Given the description of an element on the screen output the (x, y) to click on. 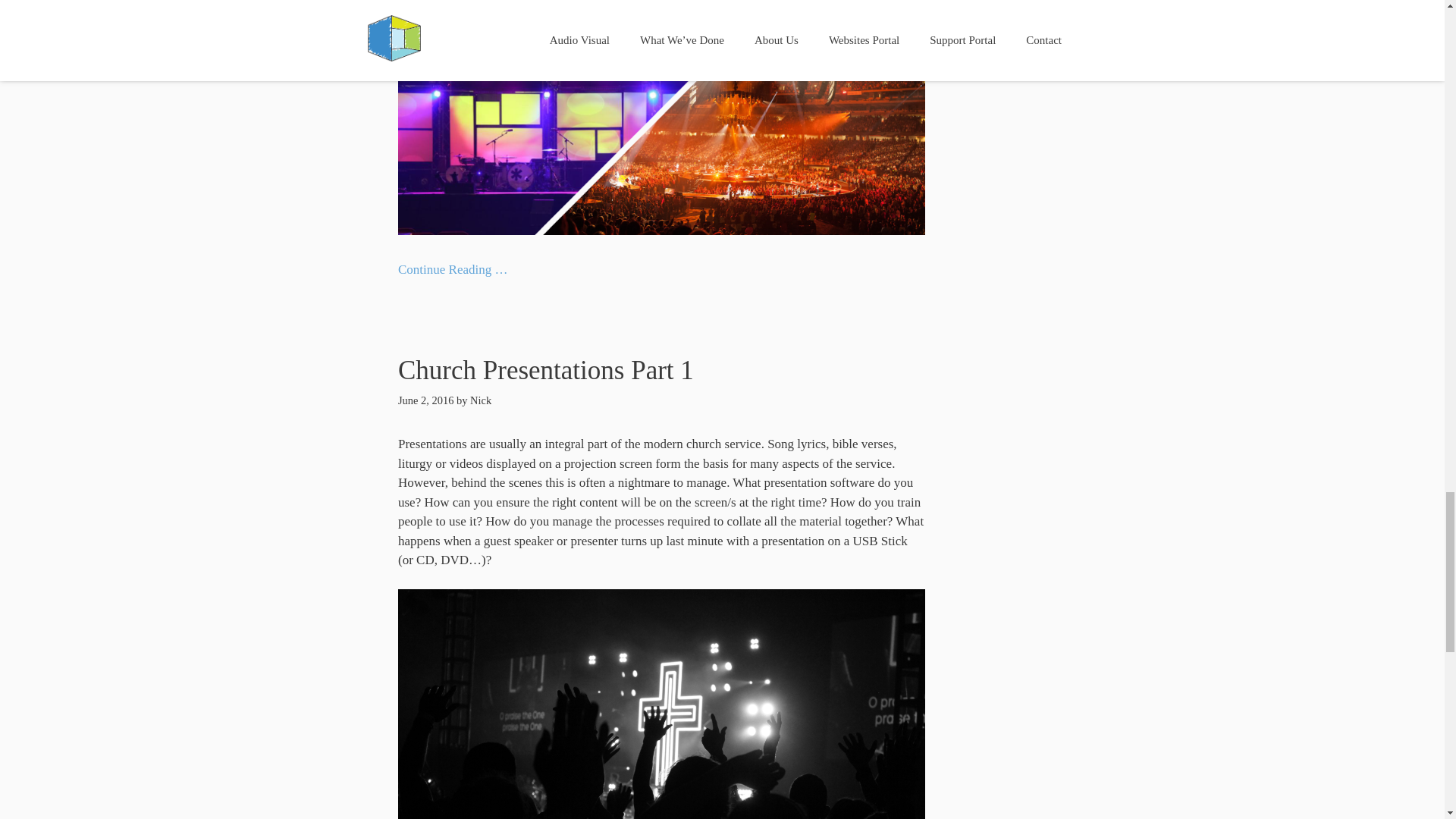
View all posts by Nick (481, 399)
